Given the description of an element on the screen output the (x, y) to click on. 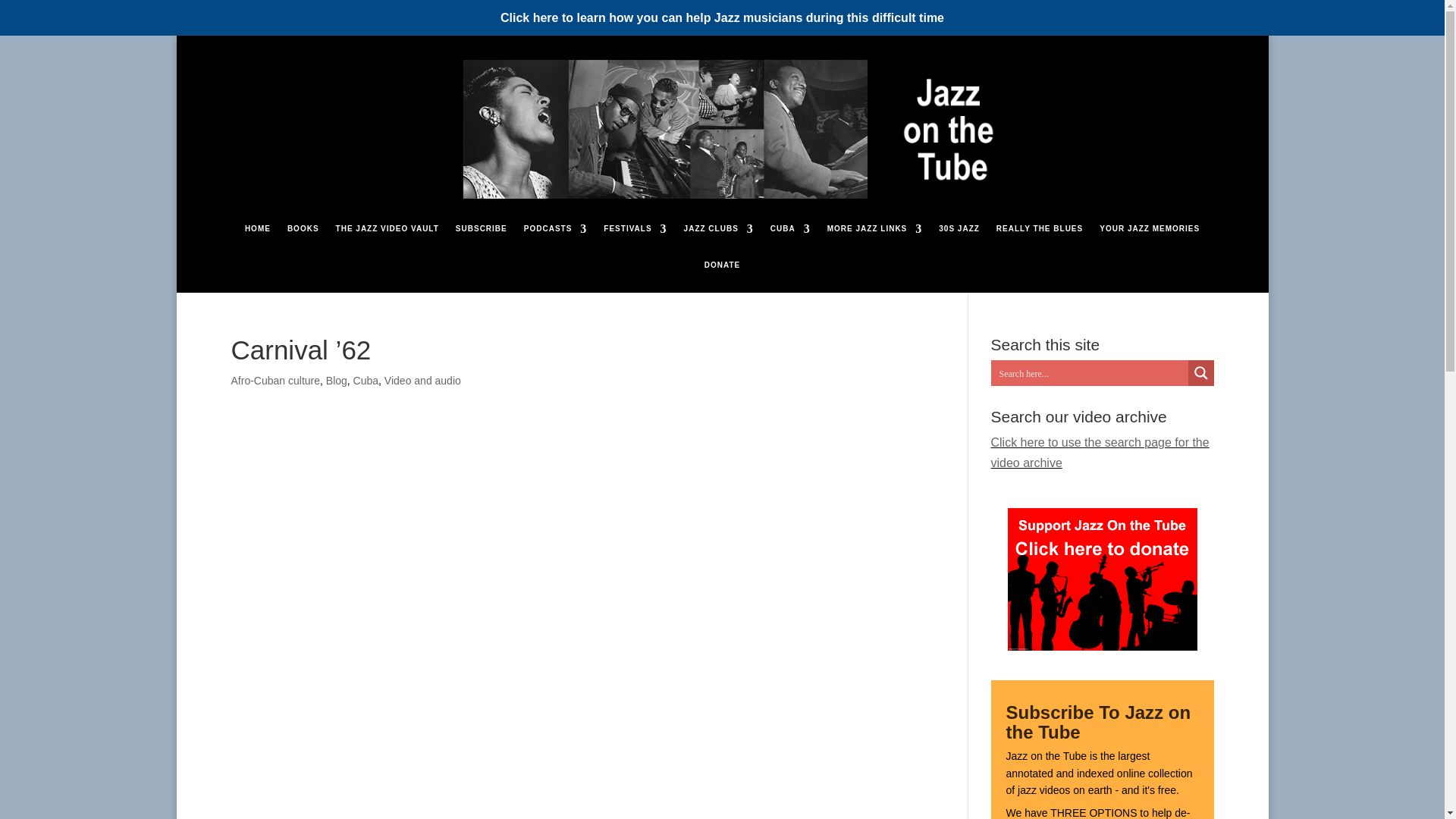
FESTIVALS (635, 239)
THE JAZZ VIDEO VAULT (387, 239)
PODCASTS (556, 239)
logo for jazz not video site (721, 129)
SUBSCRIBE (480, 239)
BOOKS (302, 239)
